Given the description of an element on the screen output the (x, y) to click on. 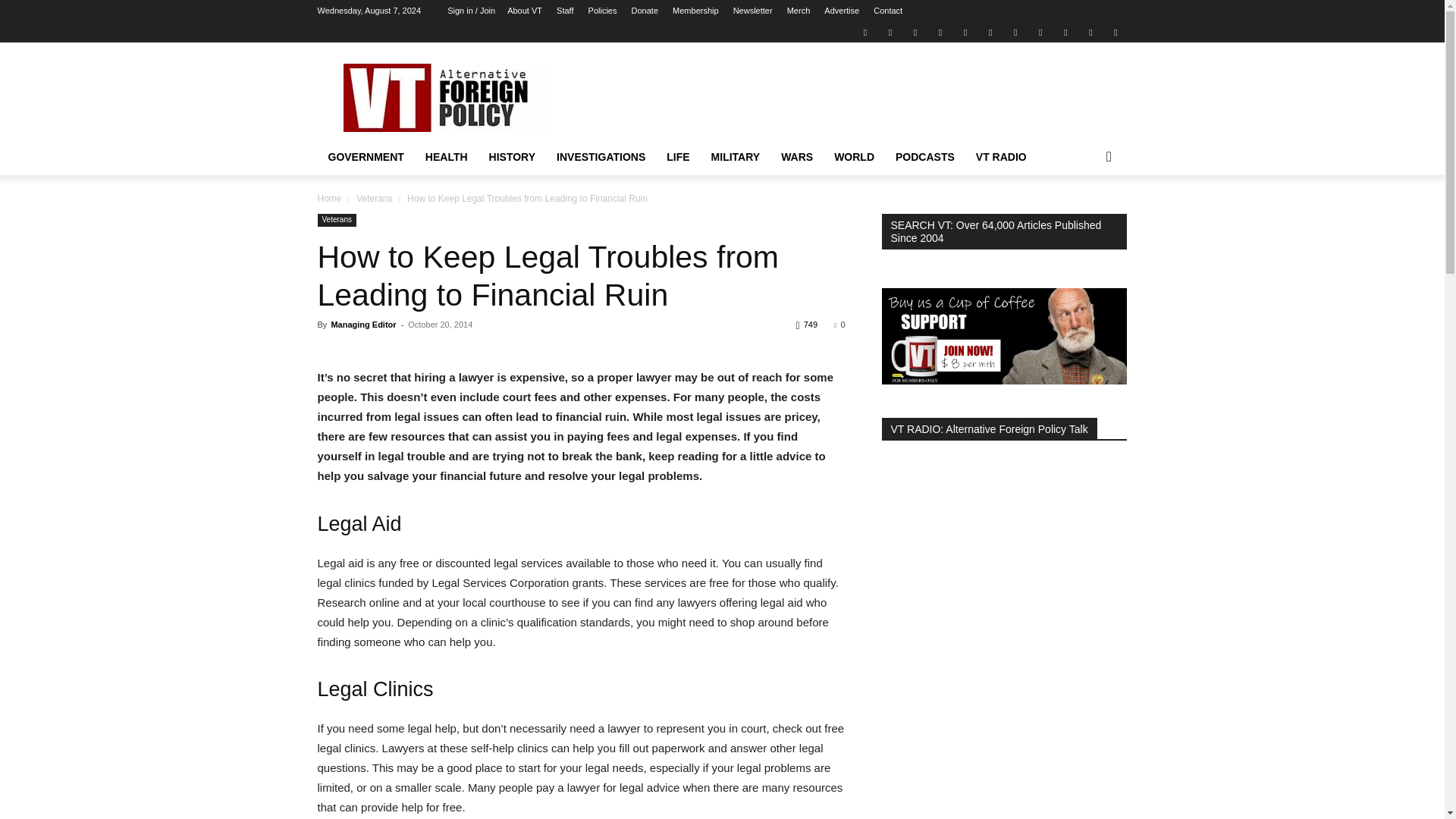
Contact (887, 10)
About VT (523, 10)
Advertise (841, 10)
Merch (798, 10)
Newsletter (753, 10)
Policies (602, 10)
Donate (644, 10)
Facebook (890, 31)
Reddit (940, 31)
Membership (695, 10)
